Given the description of an element on the screen output the (x, y) to click on. 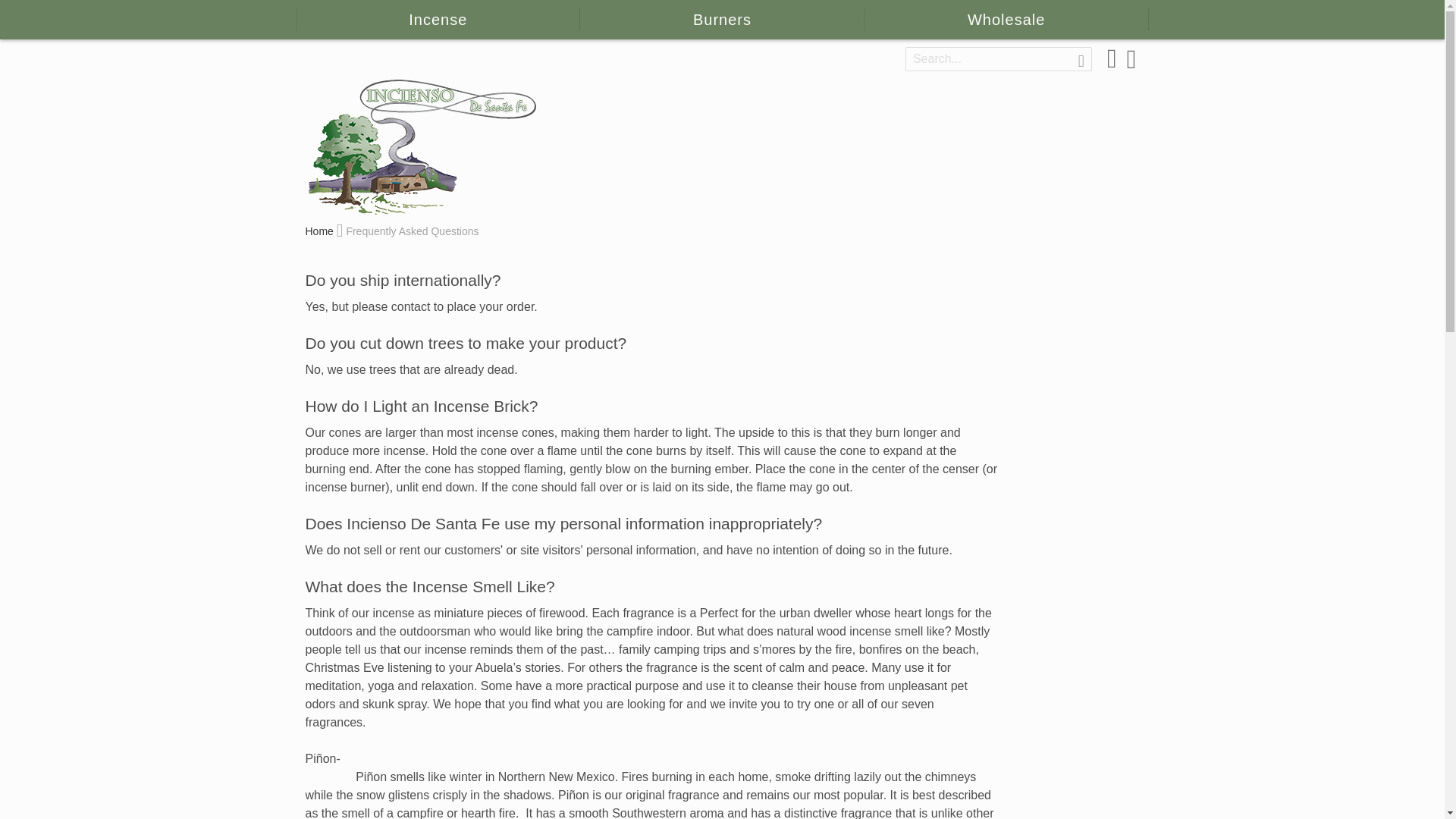
Wholesale (1006, 19)
Incienso de Sante Fe (421, 145)
Go to Home Page (320, 230)
Burners (721, 19)
Home (320, 230)
Incense (437, 19)
